Given the description of an element on the screen output the (x, y) to click on. 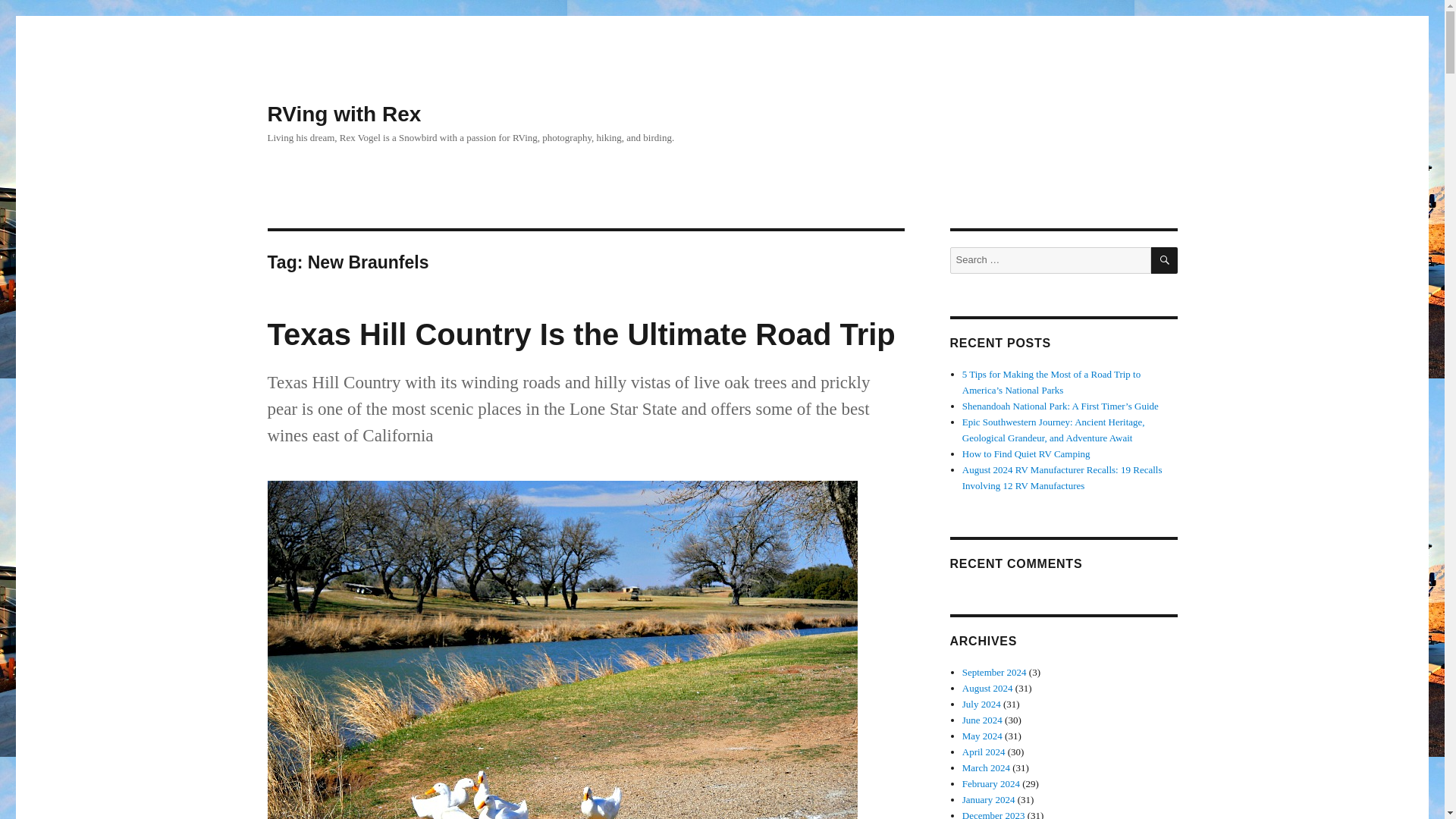
June 2024 (982, 719)
July 2024 (981, 704)
SEARCH (1164, 260)
RVing with Rex (343, 114)
August 2024 (987, 687)
September 2024 (994, 672)
How to Find Quiet RV Camping (1026, 453)
Texas Hill Country Is the Ultimate Road Trip (580, 334)
